Given the description of an element on the screen output the (x, y) to click on. 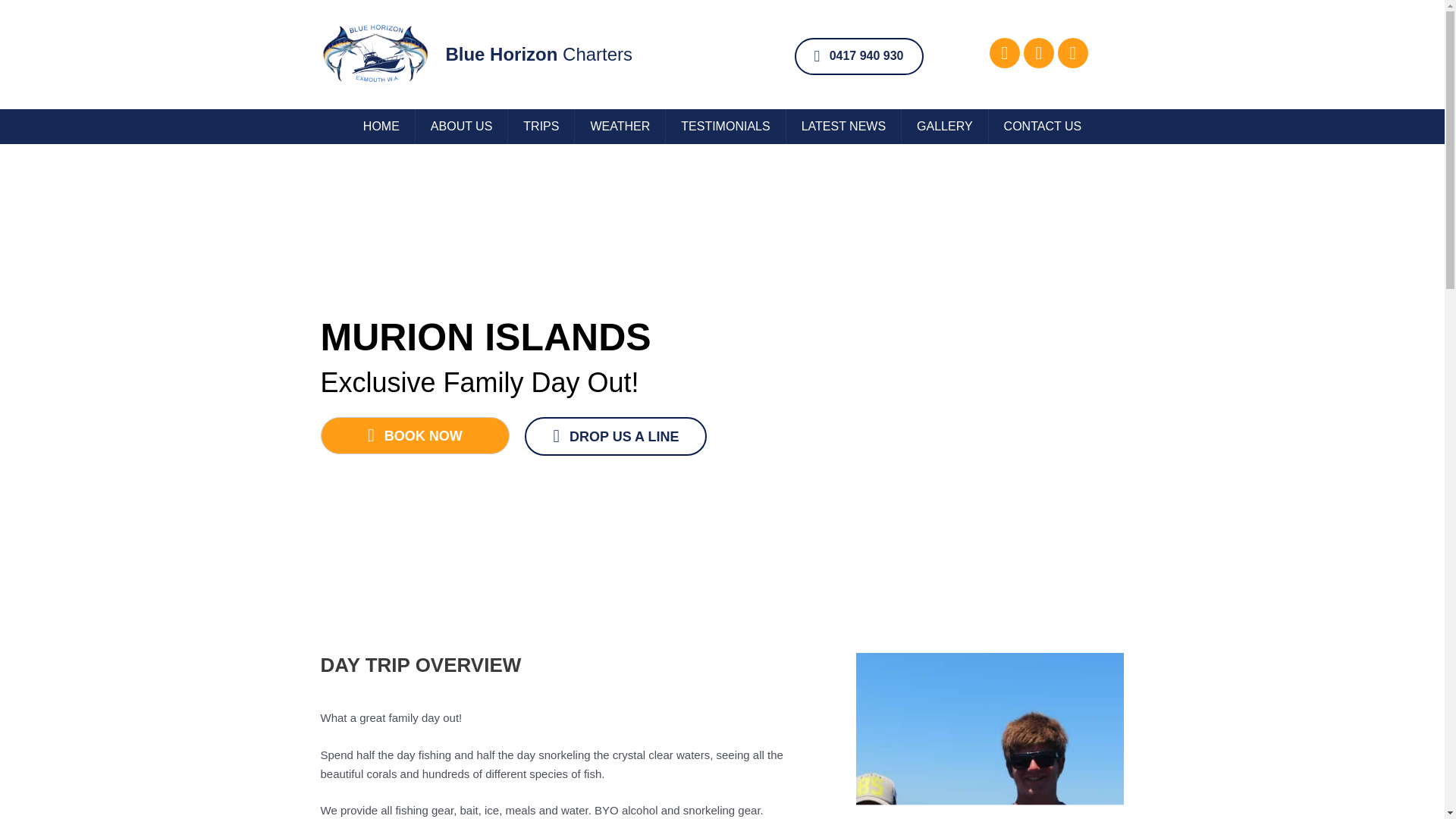
Instagram (1038, 52)
Blue Horizon Charters (538, 54)
0417 940 930 (858, 56)
GALLERY (944, 126)
YouTube (1072, 52)
BOOK NOW (414, 435)
ABOUT US (461, 126)
TRIPS (540, 126)
WEATHER (620, 126)
CONTACT US (1042, 126)
LATEST NEWS (843, 126)
TESTIMONIALS (724, 126)
HOME (380, 126)
Facebook (1005, 52)
fishing charters perth (990, 735)
